Given the description of an element on the screen output the (x, y) to click on. 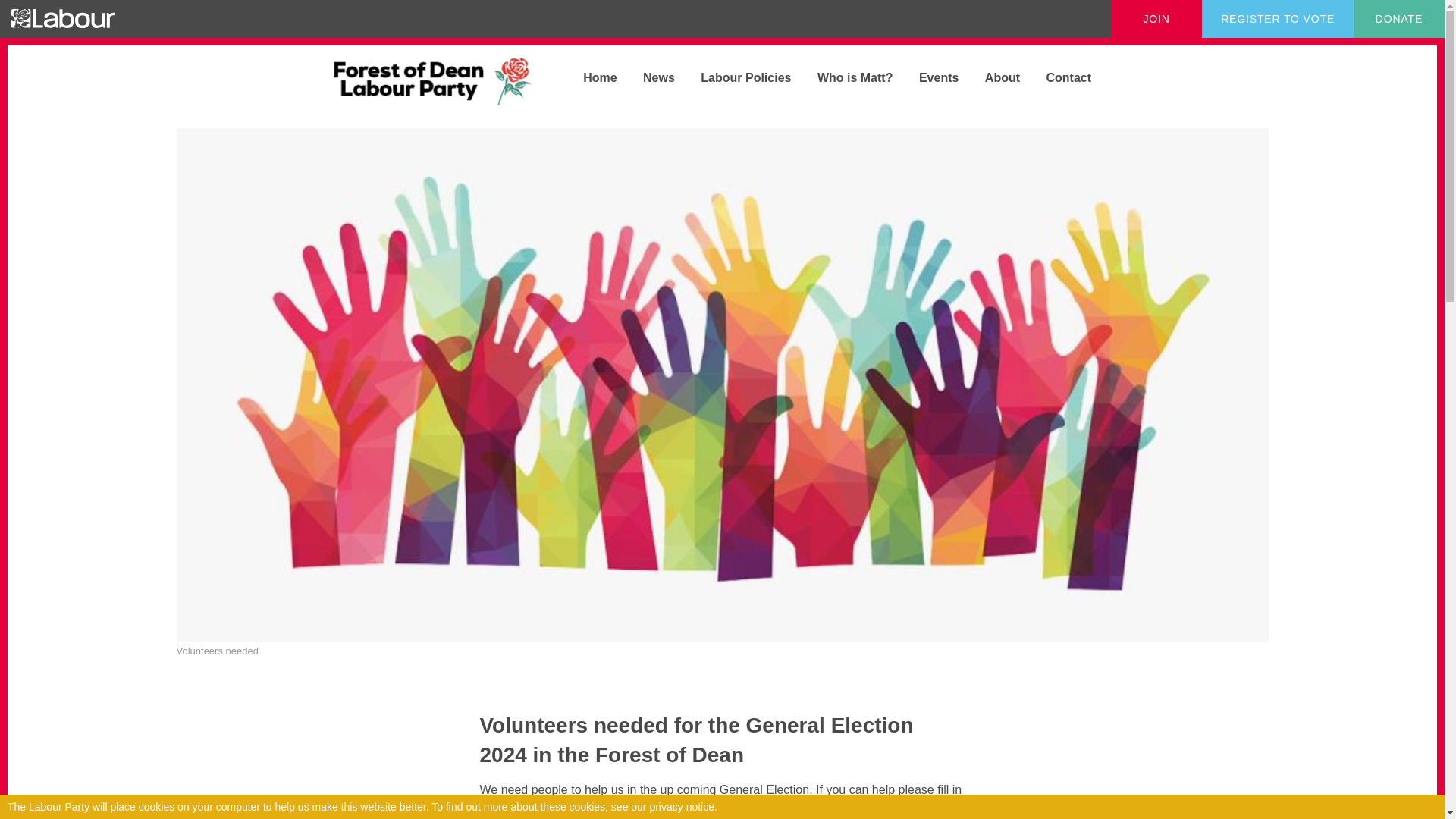
Contact (1056, 77)
About (991, 77)
JOIN (1156, 18)
Labour Policies (734, 77)
News (647, 77)
Events (927, 77)
Who is Matt? (843, 77)
Home (587, 77)
REGISTER TO VOTE (1278, 18)
